Given the description of an element on the screen output the (x, y) to click on. 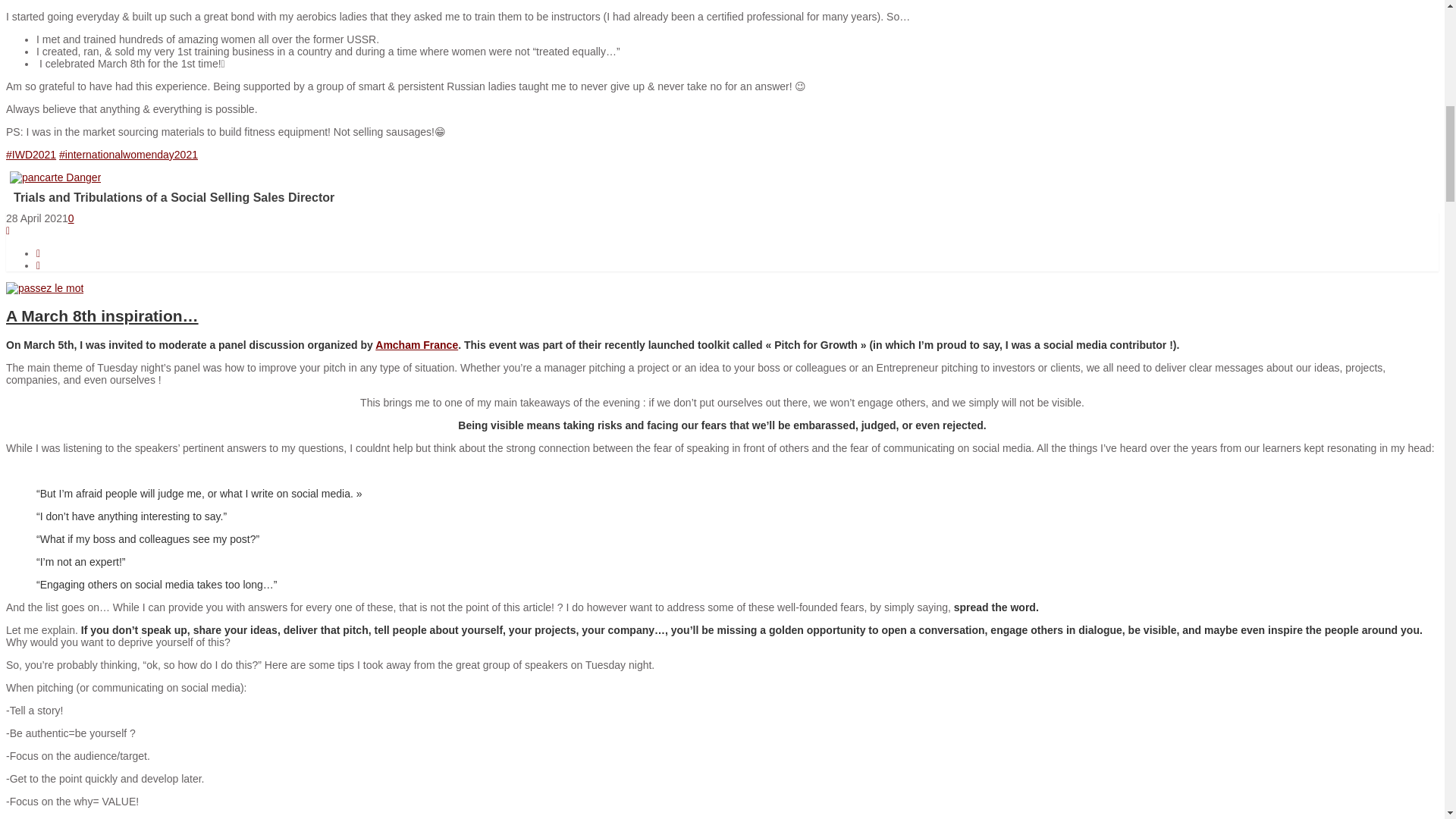
Trials and Tribulations of a Social Selling Sales Director (331, 197)
Trials and Tribulations of a Social Selling Sales Director (331, 197)
Trials and Tribulations of a Social Selling Sales Director (55, 177)
Amcham France (416, 345)
